Given the description of an element on the screen output the (x, y) to click on. 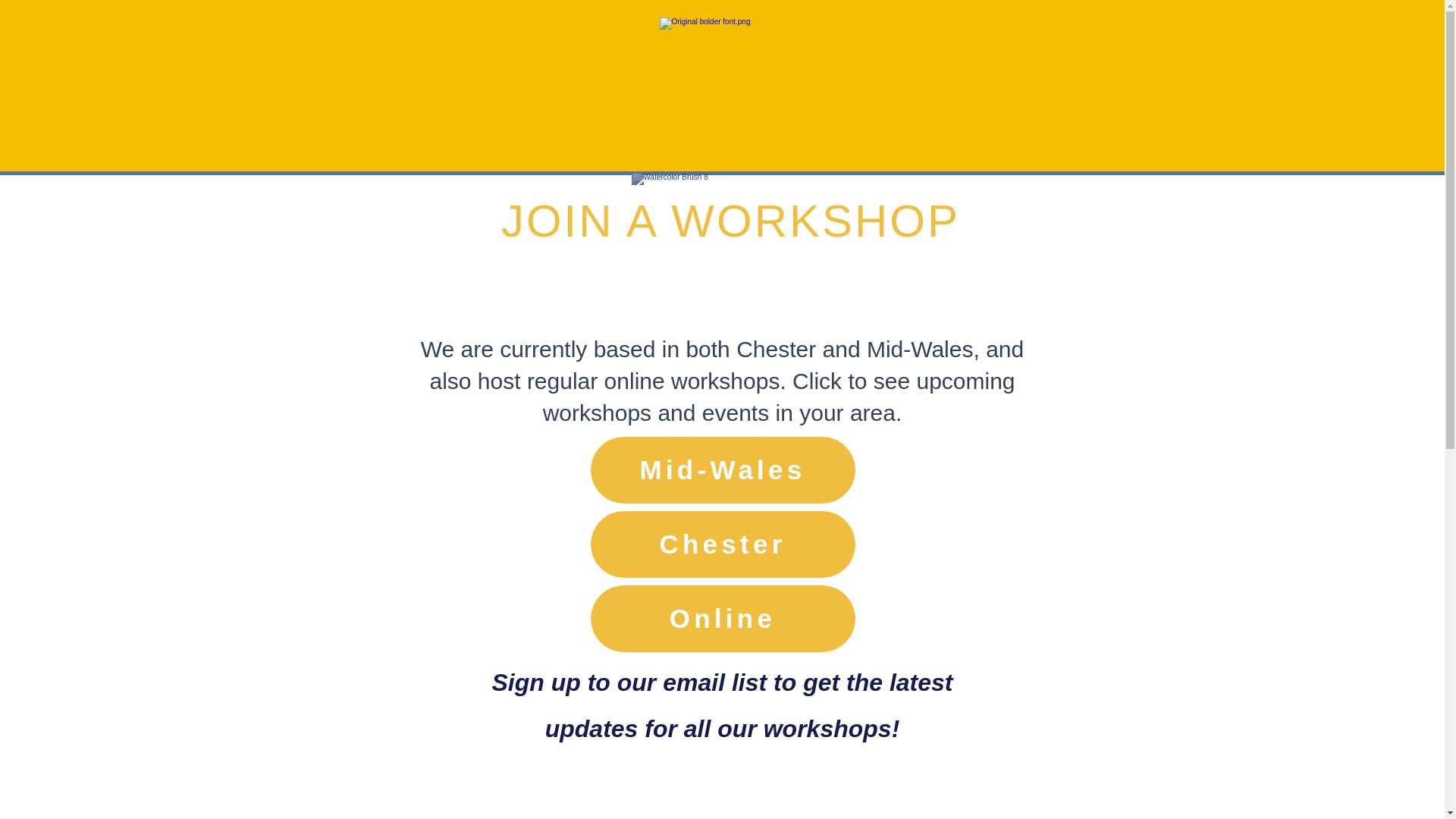
Mid-Wales (721, 469)
Online (721, 618)
Chester (721, 544)
